Given the description of an element on the screen output the (x, y) to click on. 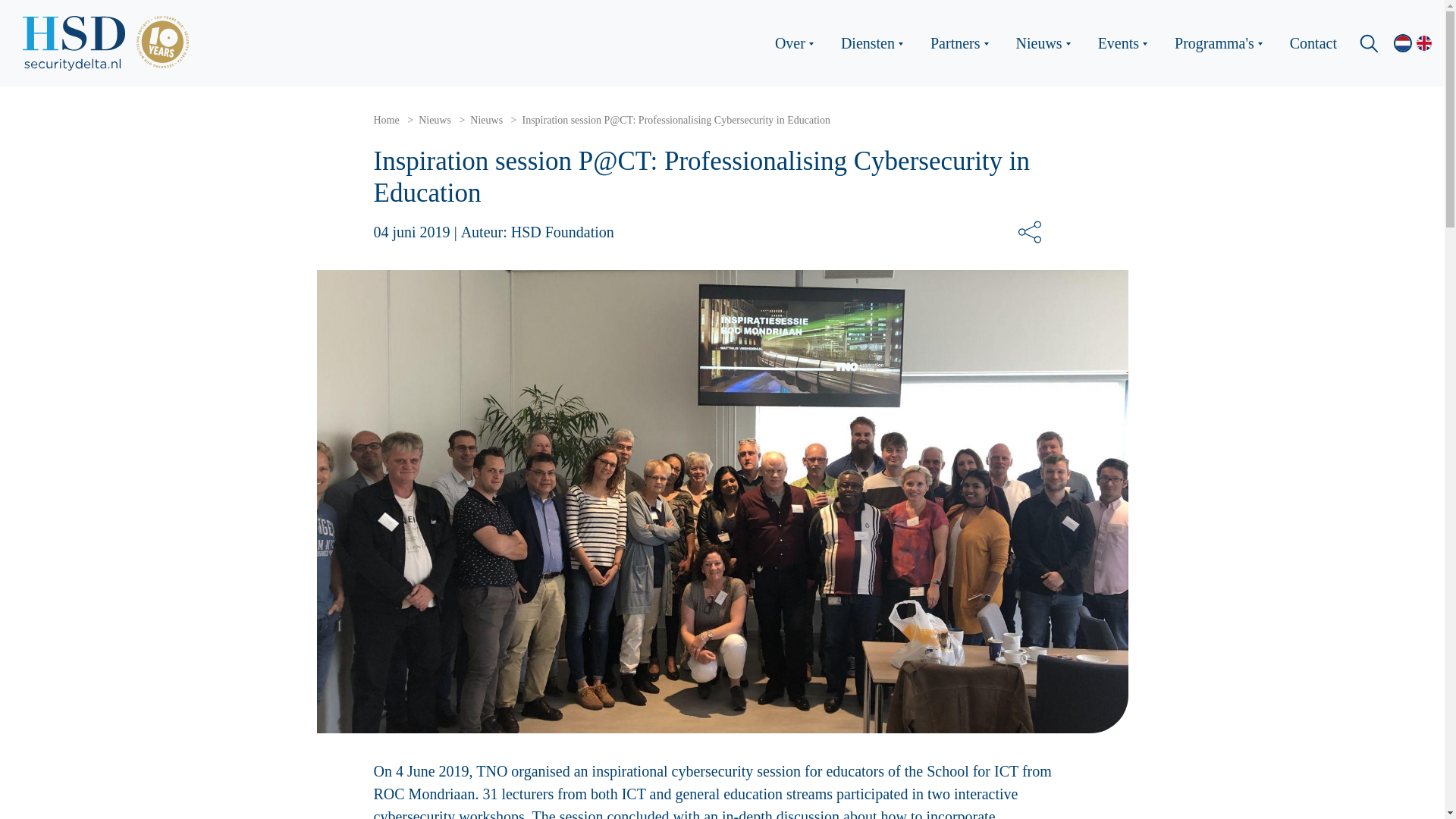
Diensten (877, 43)
